Given the description of an element on the screen output the (x, y) to click on. 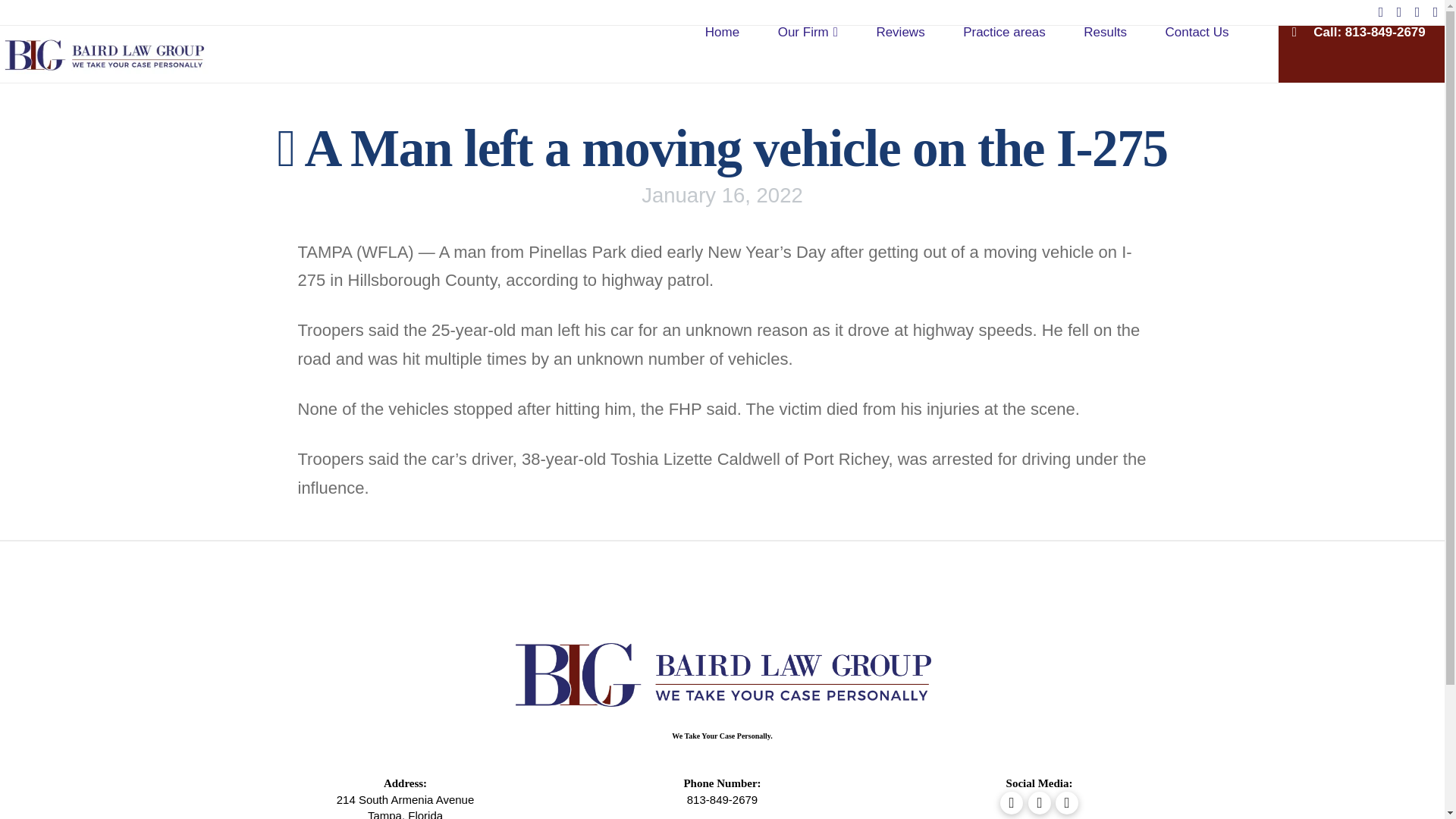
Reviews (900, 53)
Our Firm (807, 53)
Practice areas (1003, 53)
Contact Us (1196, 53)
Results (1104, 53)
Home (721, 53)
